Given the description of an element on the screen output the (x, y) to click on. 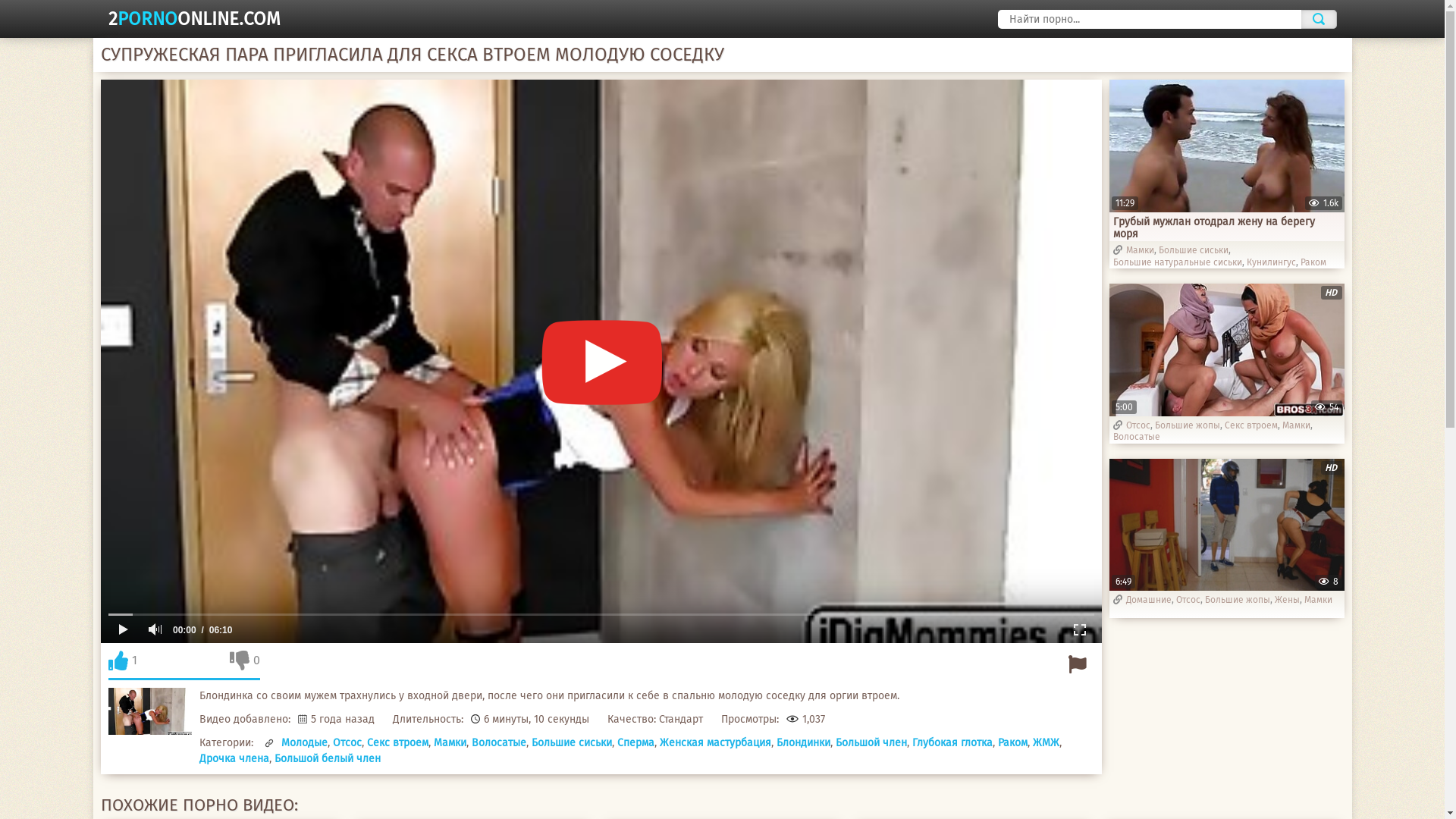
HD
5:00
54 Element type: text (1225, 349)
2PORNOONLINE.COM Element type: text (193, 18)
HD
6:49
8 Element type: text (1225, 524)
